Given the description of an element on the screen output the (x, y) to click on. 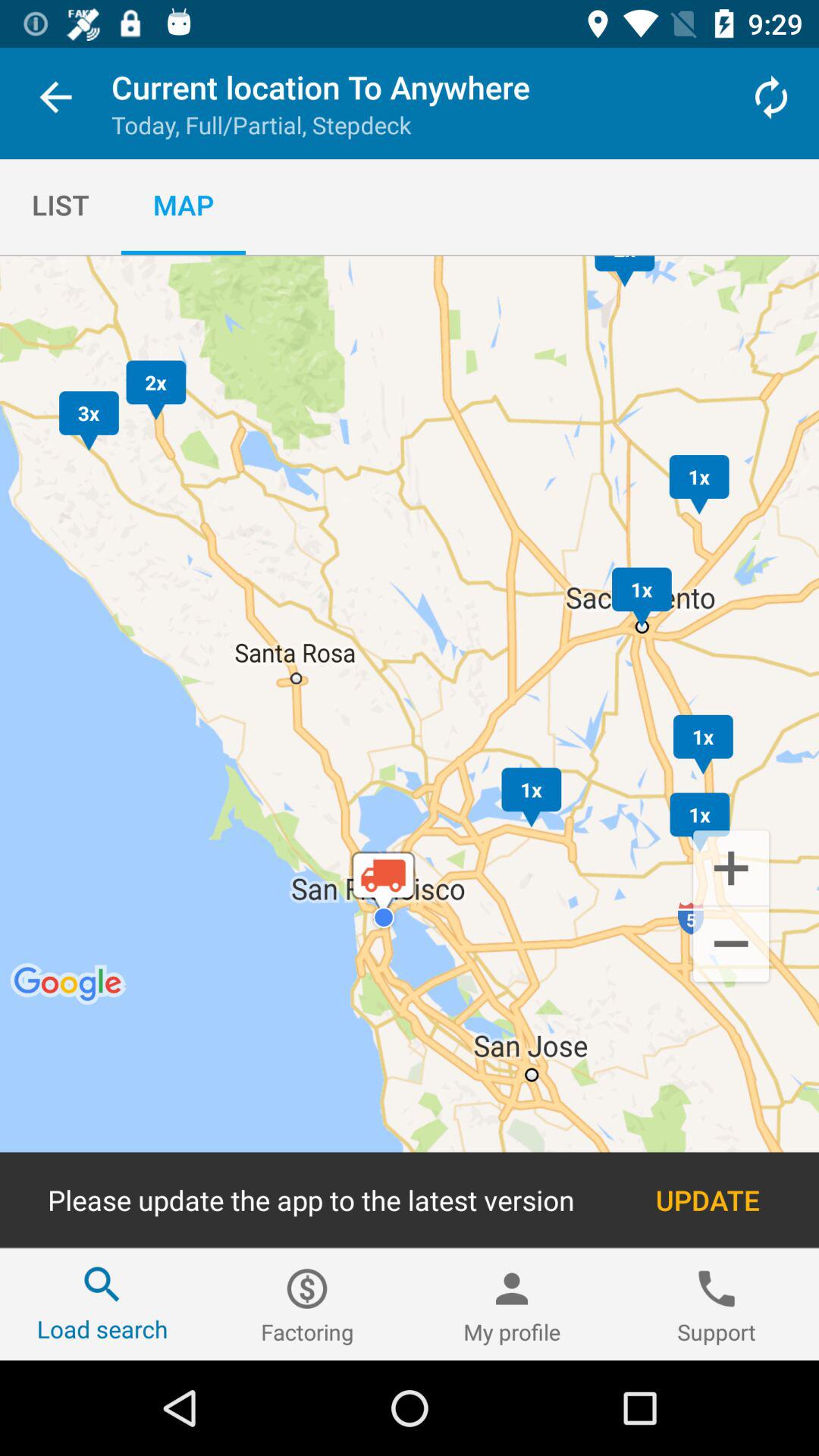
tap item to the left of the map item (60, 204)
